Given the description of an element on the screen output the (x, y) to click on. 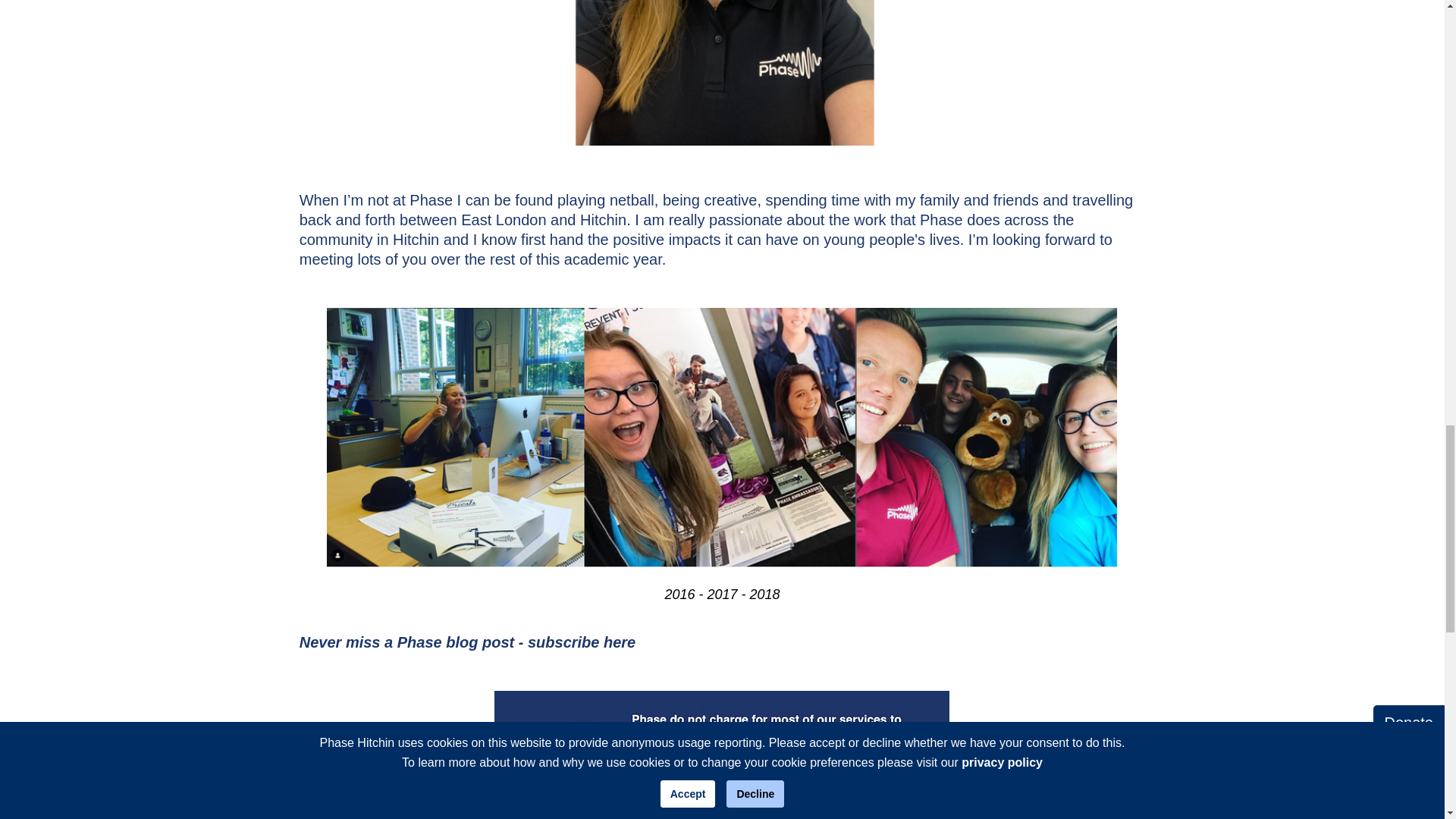
subscribe here (580, 641)
